Given the description of an element on the screen output the (x, y) to click on. 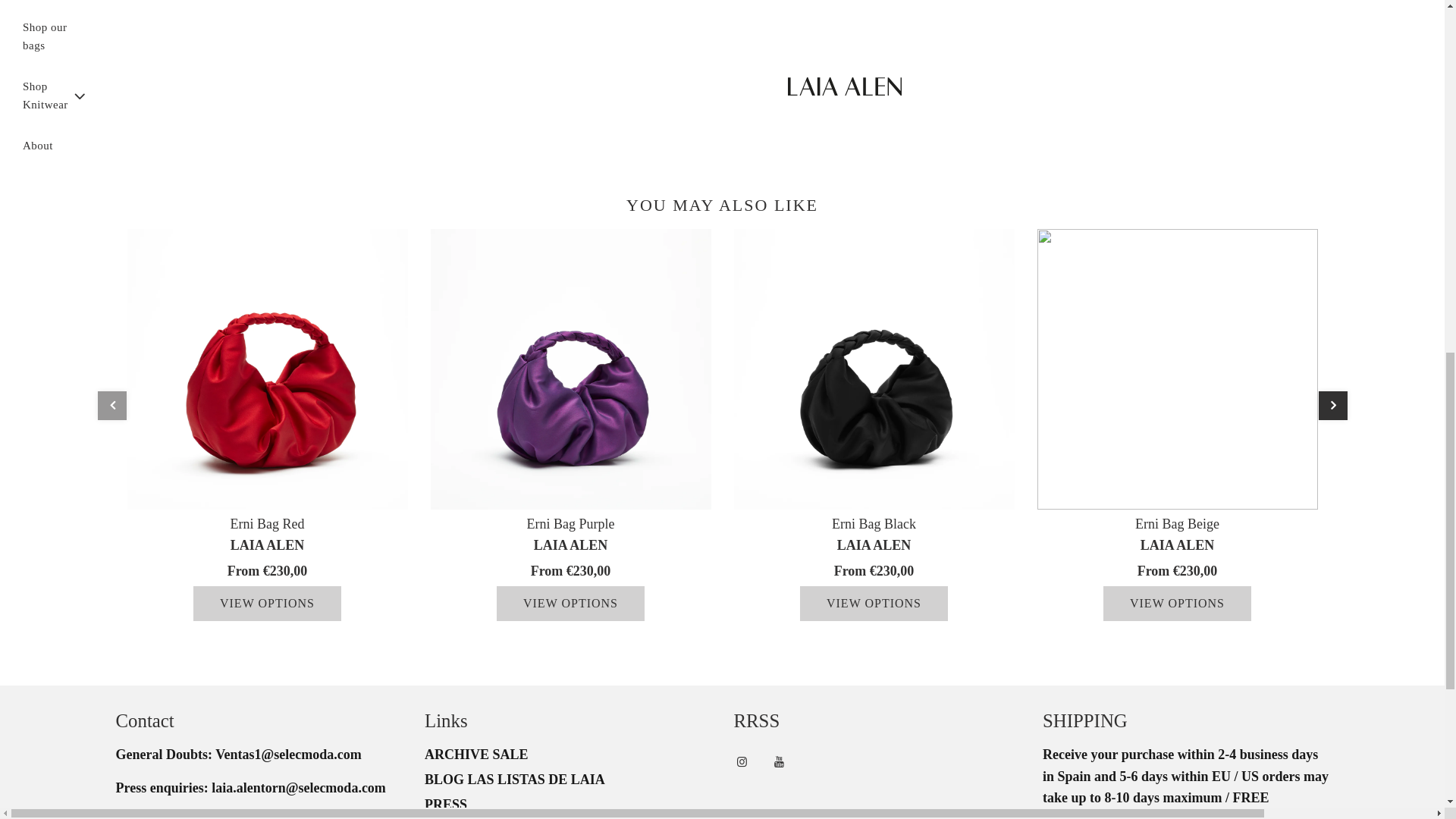
Erni Bag Beige (1176, 369)
Erni Bag Red (267, 369)
Erni Bag Black (873, 369)
Erni Bag Purple (570, 369)
Erni Bag Red (267, 523)
